Given the description of an element on the screen output the (x, y) to click on. 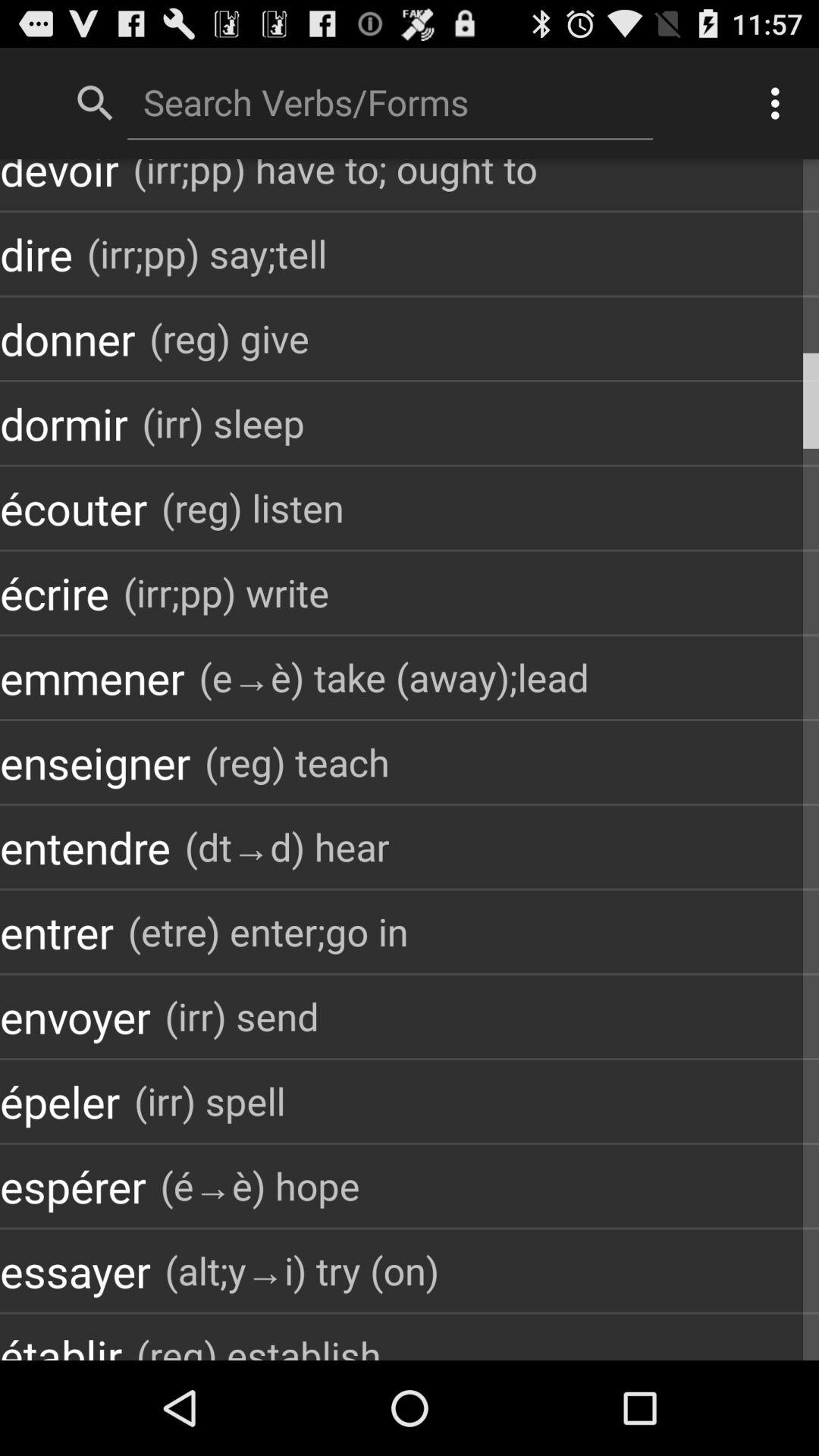
turn on the icon to the right of the emmener item (394, 677)
